Given the description of an element on the screen output the (x, y) to click on. 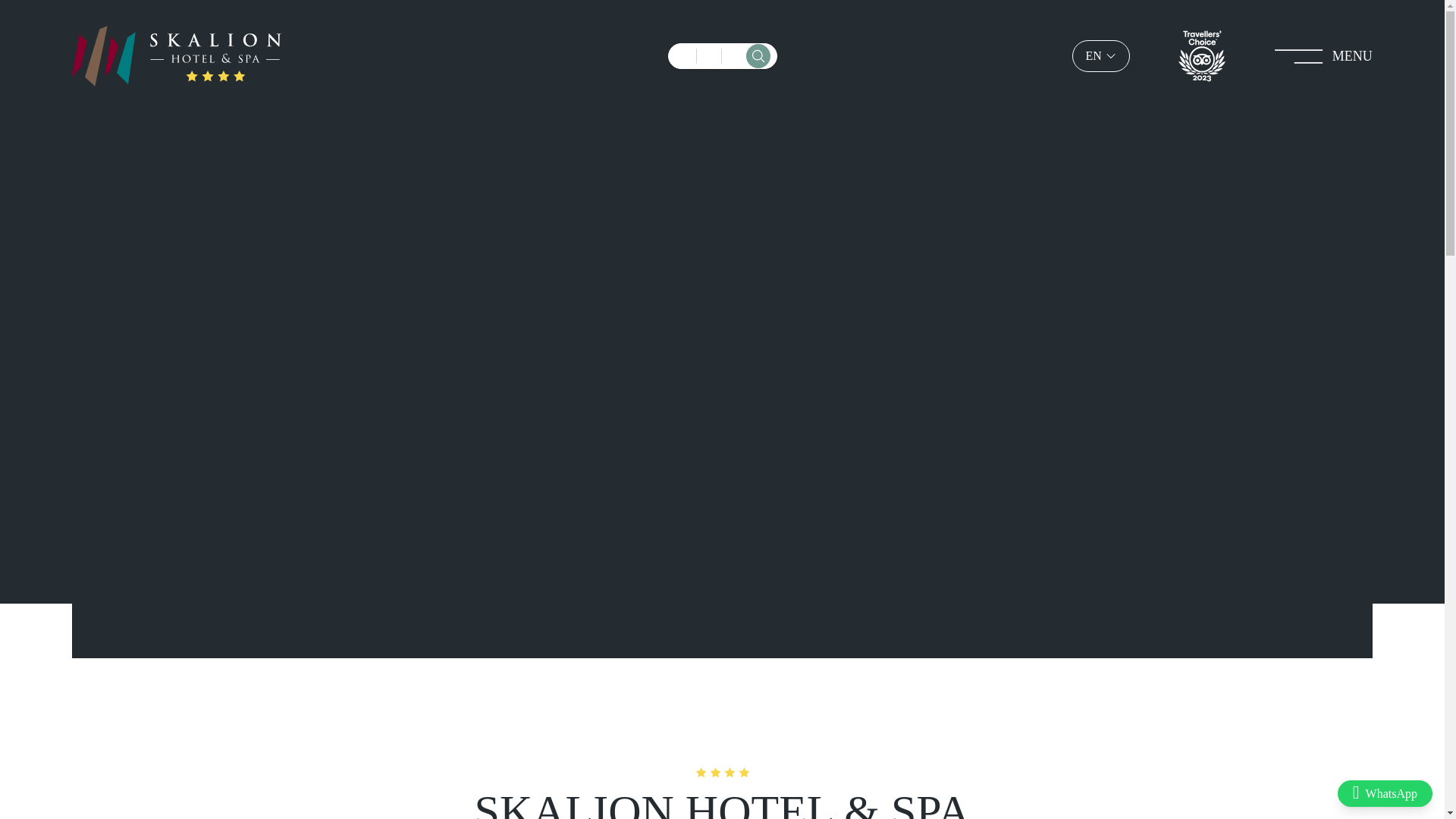
MENU (1324, 55)
EN (1100, 56)
